Given the description of an element on the screen output the (x, y) to click on. 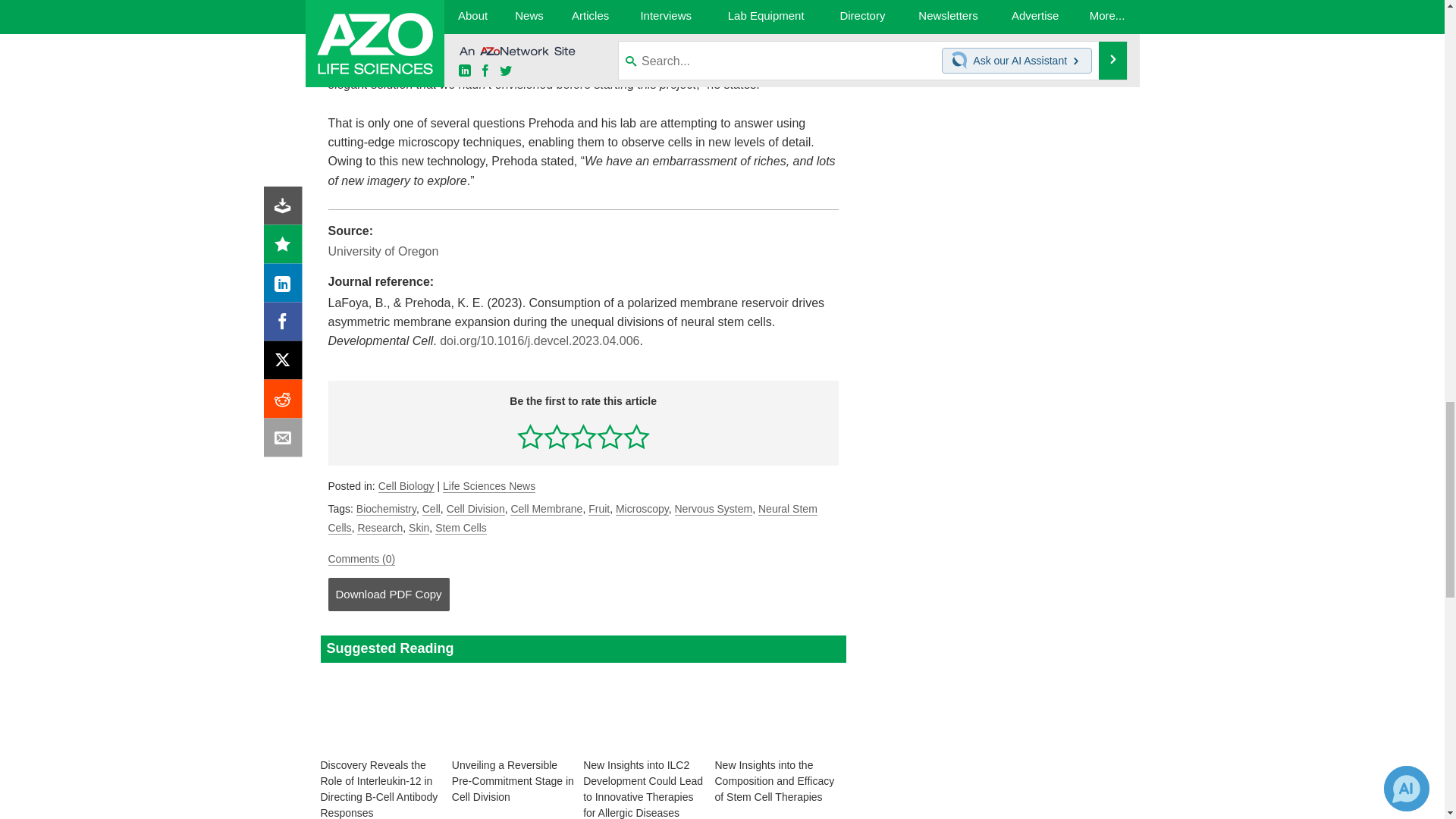
Rate this 4 stars out of 5 (609, 436)
Rate this 5 stars out of 5 (636, 436)
